Given the description of an element on the screen output the (x, y) to click on. 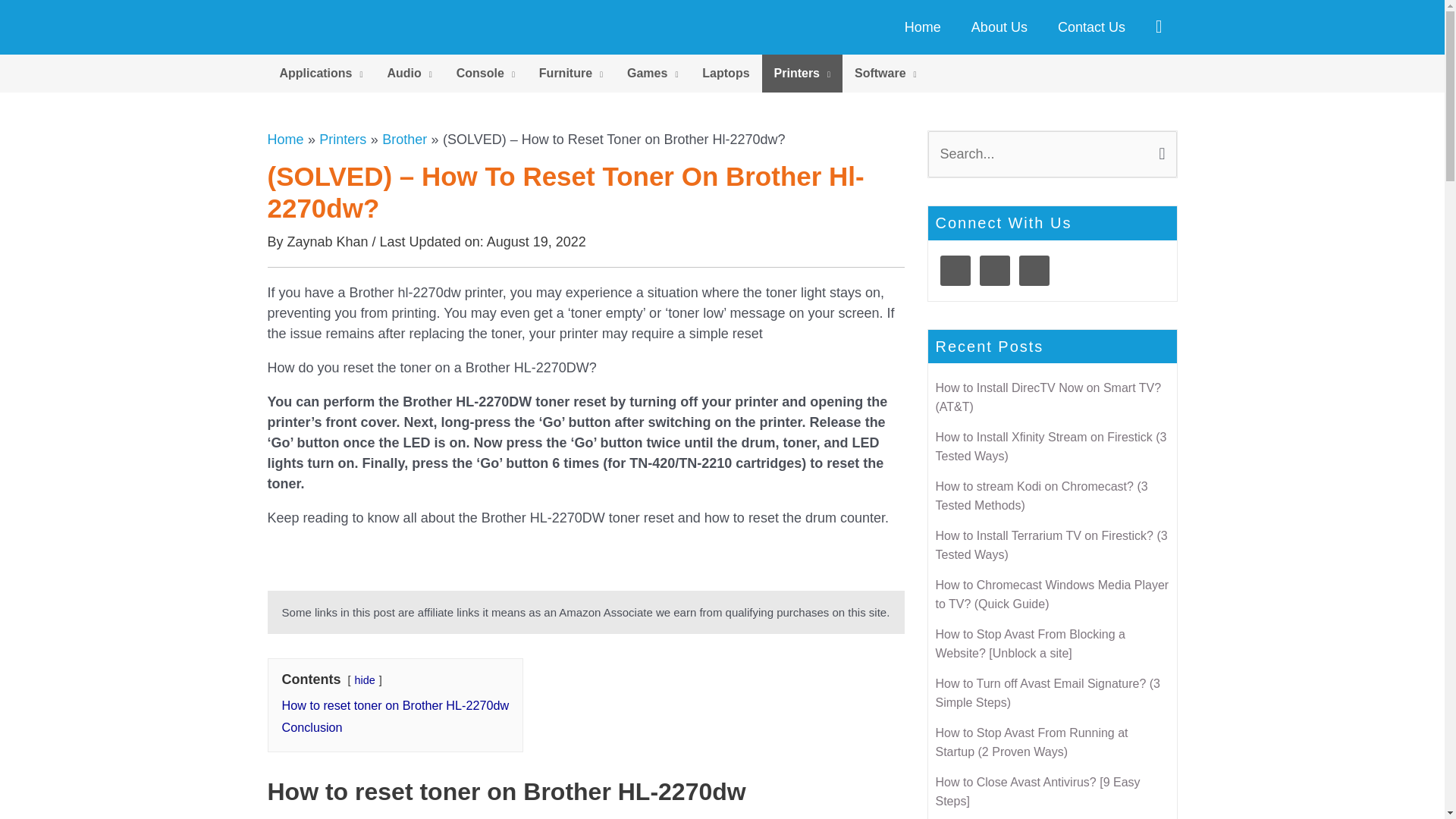
View all posts by Zaynab Khan (329, 241)
Search (1158, 147)
Search (1158, 147)
Home (922, 27)
About Us (999, 27)
Contact Us (1091, 27)
